Given the description of an element on the screen output the (x, y) to click on. 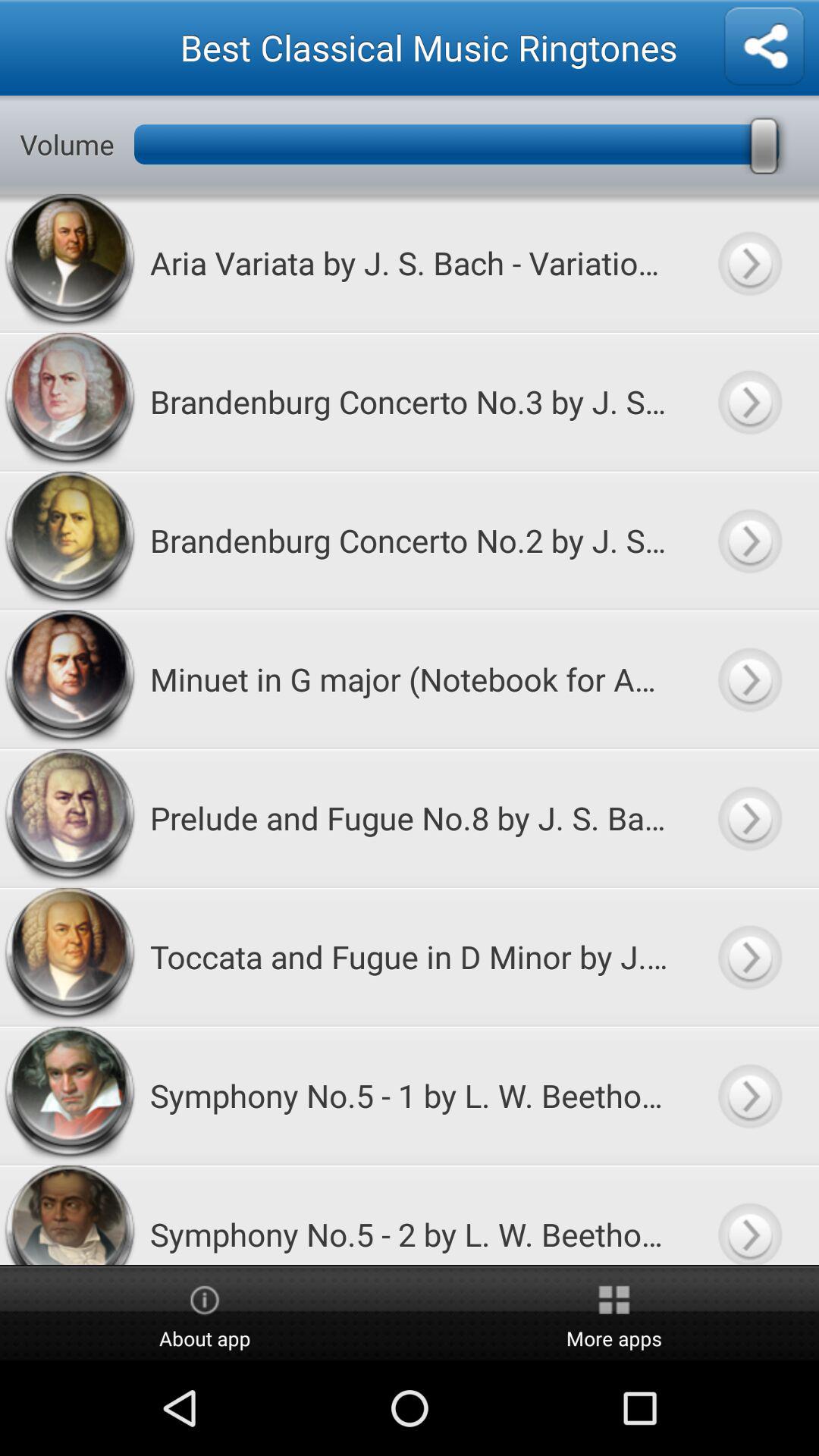
play the ringtone (749, 679)
